Given the description of an element on the screen output the (x, y) to click on. 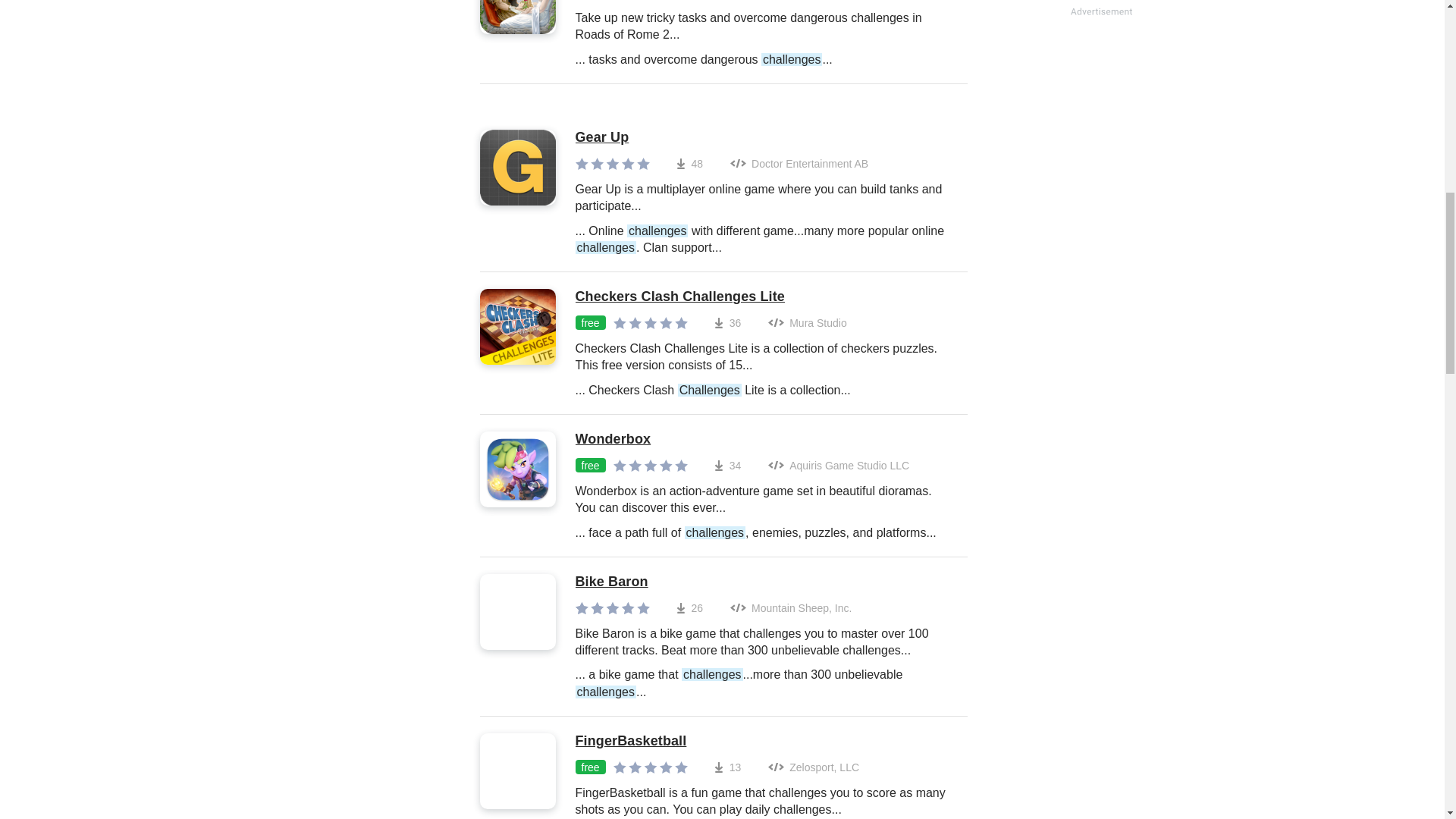
Wonderbox (763, 439)
Checkers Clash Challenges Lite (763, 297)
Wonderbox (763, 439)
FingerBasketball (763, 741)
Checkers Clash Challenges Lite (763, 297)
FingerBasketball (763, 741)
Bike Baron (763, 582)
Gear Up (763, 137)
Bike Baron (763, 582)
Gear Up (763, 137)
